Given the description of an element on the screen output the (x, y) to click on. 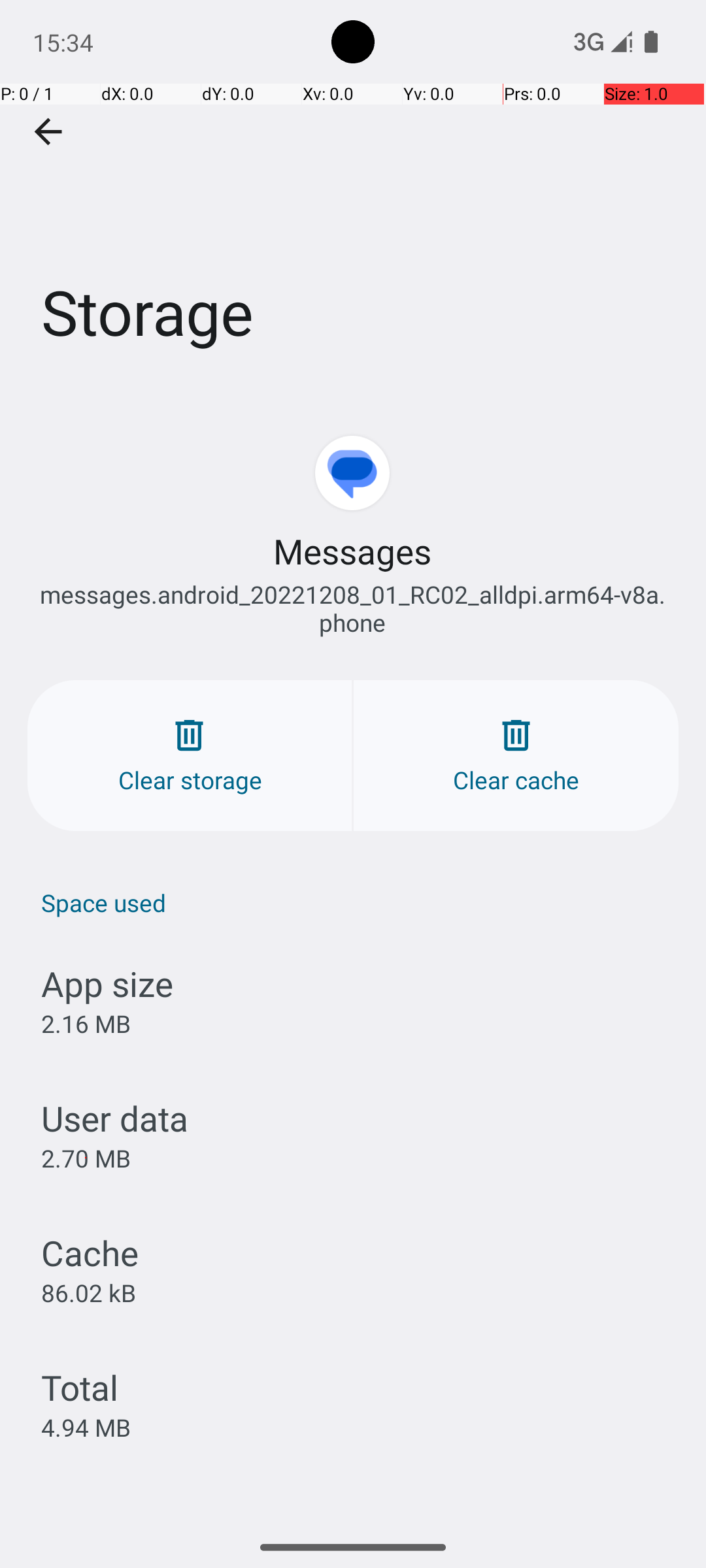
Storage Element type: android.widget.FrameLayout (353, 195)
Navigate up Element type: android.widget.ImageButton (48, 131)
messages.android_20221208_01_RC02_alldpi.arm64-v8a.phone Element type: android.widget.TextView (352, 607)
Clear storage Element type: android.widget.Button (189, 755)
Clear cache Element type: android.widget.Button (515, 755)
Space used Element type: android.widget.TextView (359, 902)
App size Element type: android.widget.TextView (107, 983)
2.16 MB Element type: android.widget.TextView (85, 1023)
User data Element type: android.widget.TextView (114, 1117)
2.70 MB Element type: android.widget.TextView (85, 1157)
Cache Element type: android.widget.TextView (89, 1252)
86.02 kB Element type: android.widget.TextView (88, 1292)
Total Element type: android.widget.TextView (79, 1387)
4.94 MB Element type: android.widget.TextView (85, 1426)
